Given the description of an element on the screen output the (x, y) to click on. 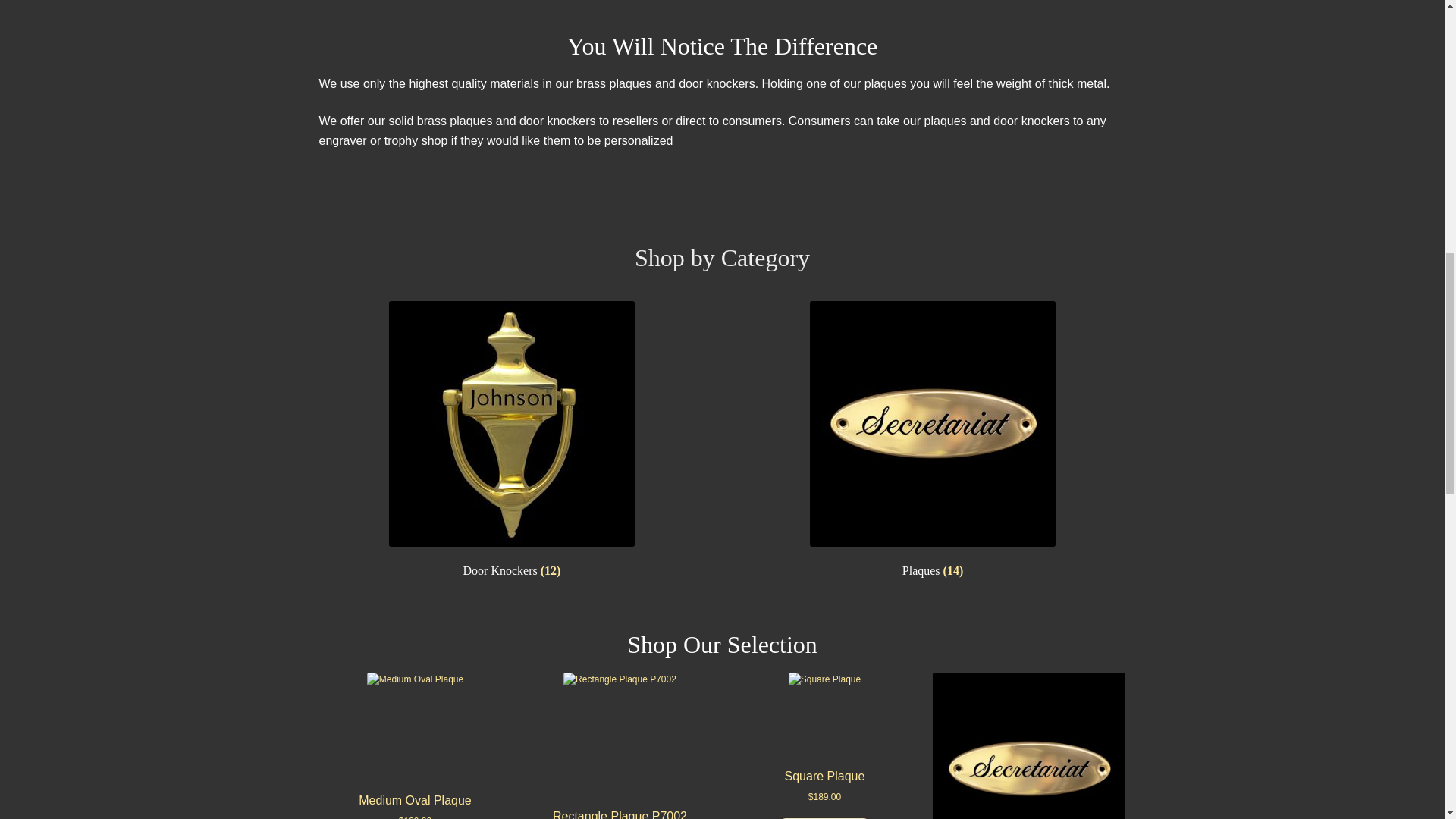
Rectangle Plaque P7002 (620, 745)
Small Oval Plaque P5004 (1029, 745)
Select options (824, 817)
